Given the description of an element on the screen output the (x, y) to click on. 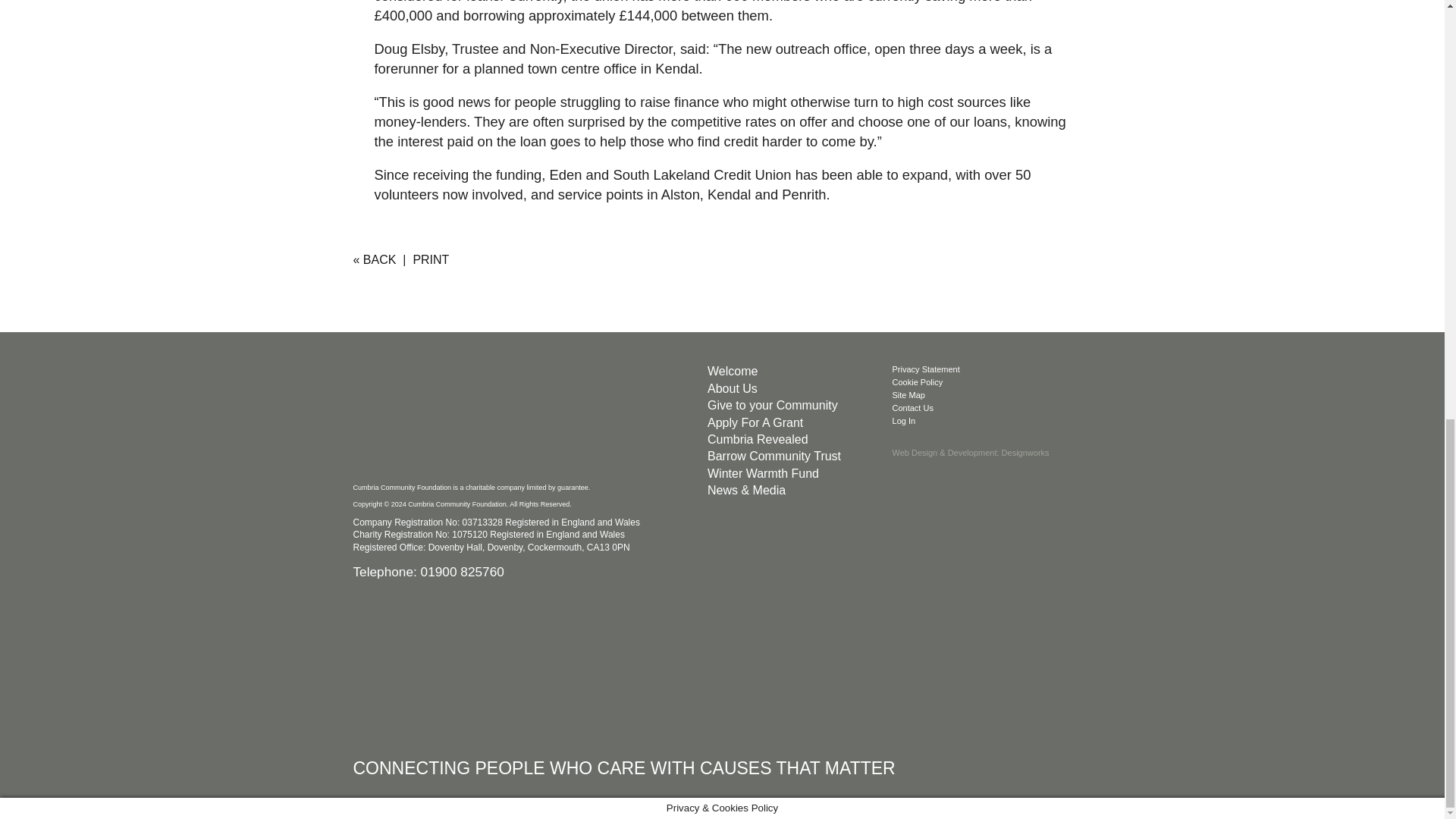
FR-Fundraising-Badge-Mono-HR (720, 664)
UK Community Foundations Member (466, 664)
ccf-logo (466, 418)
